Given the description of an element on the screen output the (x, y) to click on. 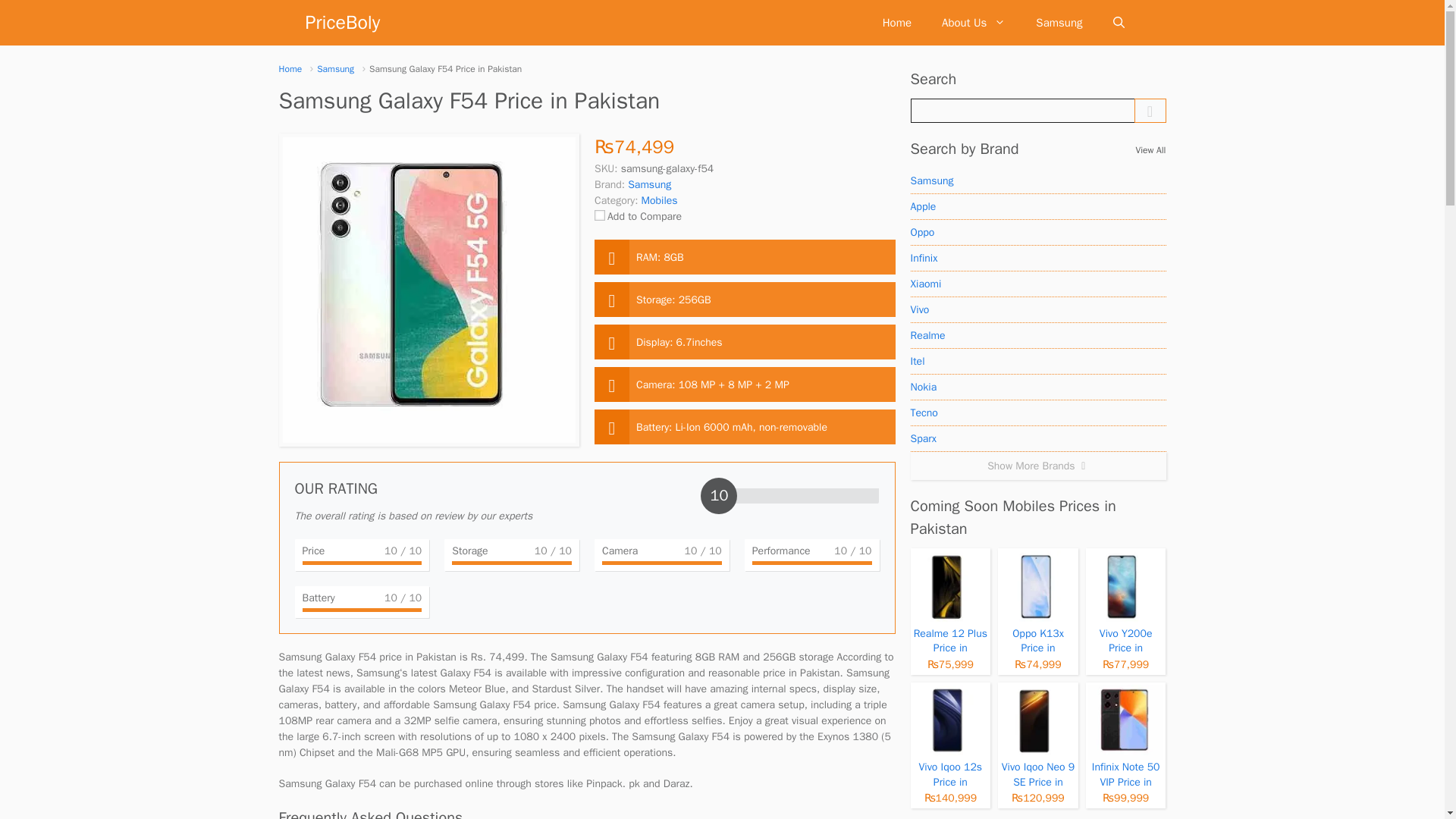
Infinix (1038, 258)
PriceBoly (342, 22)
Sparx (1038, 438)
Samsung (1058, 22)
Apple (1038, 207)
Home (290, 68)
Samsung (1038, 181)
Realme (1038, 335)
Home (896, 22)
About Us (973, 22)
Itel (1038, 361)
Vivo (1038, 309)
Tecno (1038, 412)
Xiaomi (1038, 284)
Oppo (1038, 232)
